Given the description of an element on the screen output the (x, y) to click on. 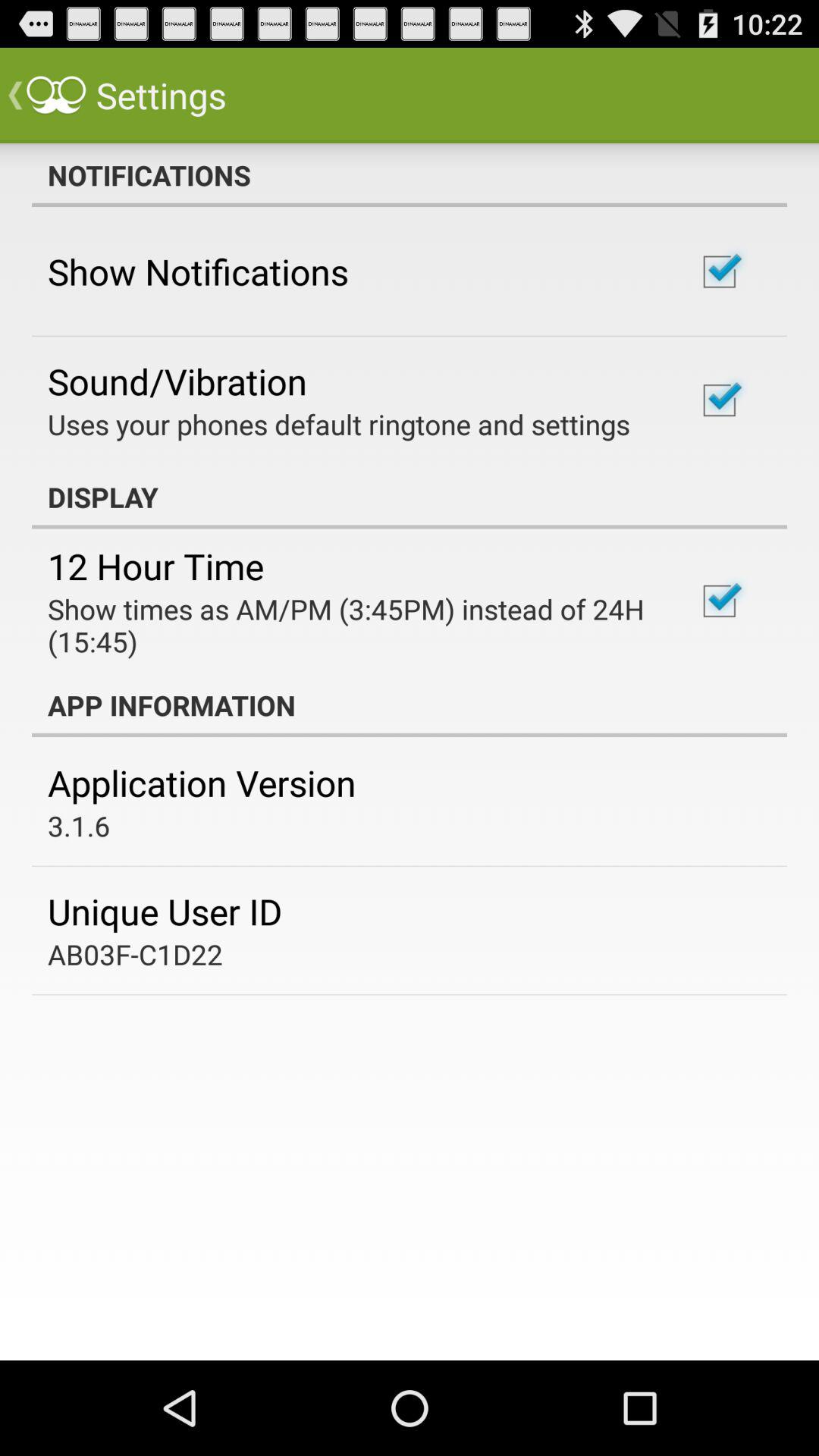
select icon above sound/vibration (197, 271)
